Given the description of an element on the screen output the (x, y) to click on. 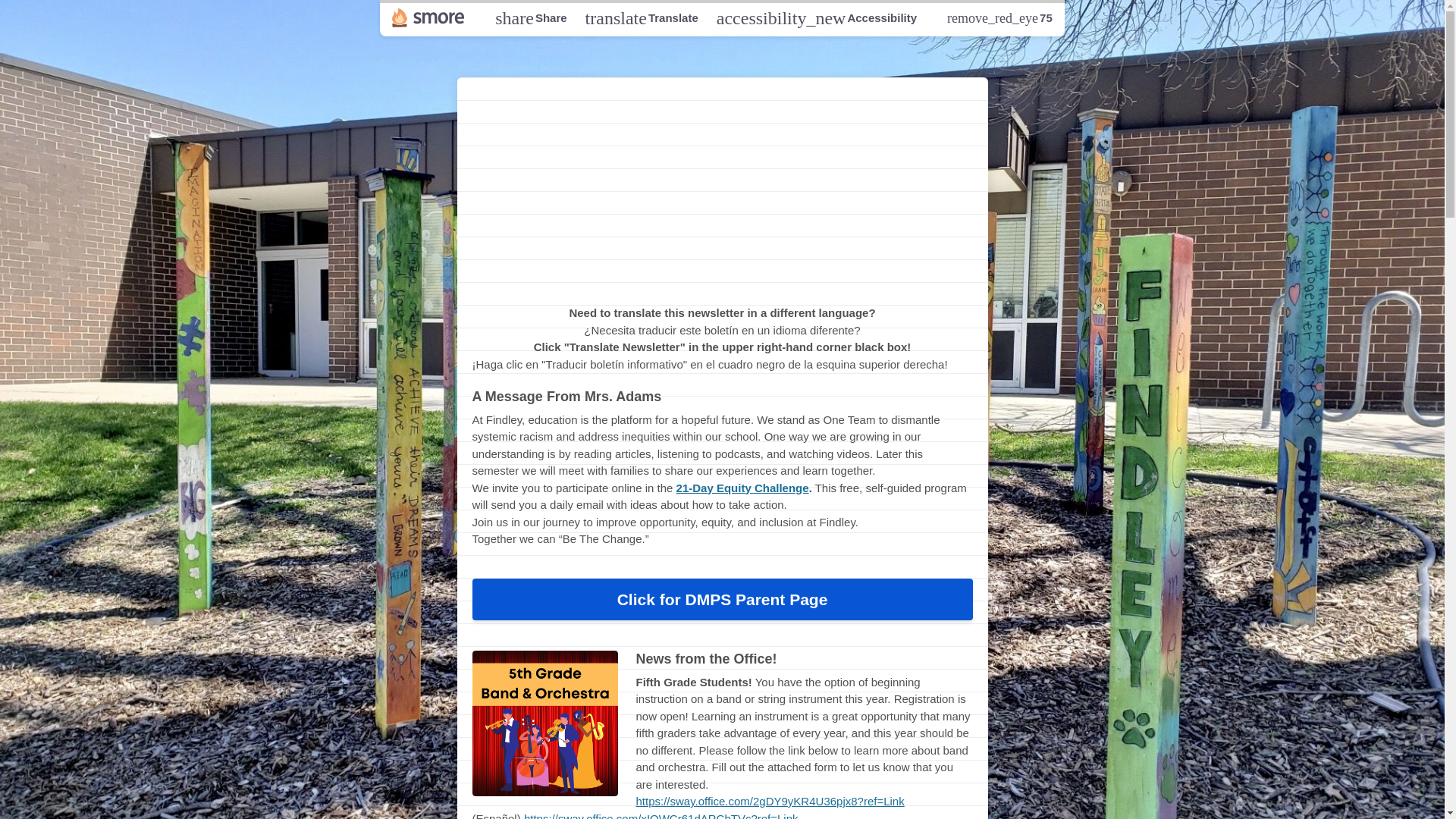
21-Day Equity Challenge (641, 18)
Click for DMPS Parent Page (743, 486)
